Given the description of an element on the screen output the (x, y) to click on. 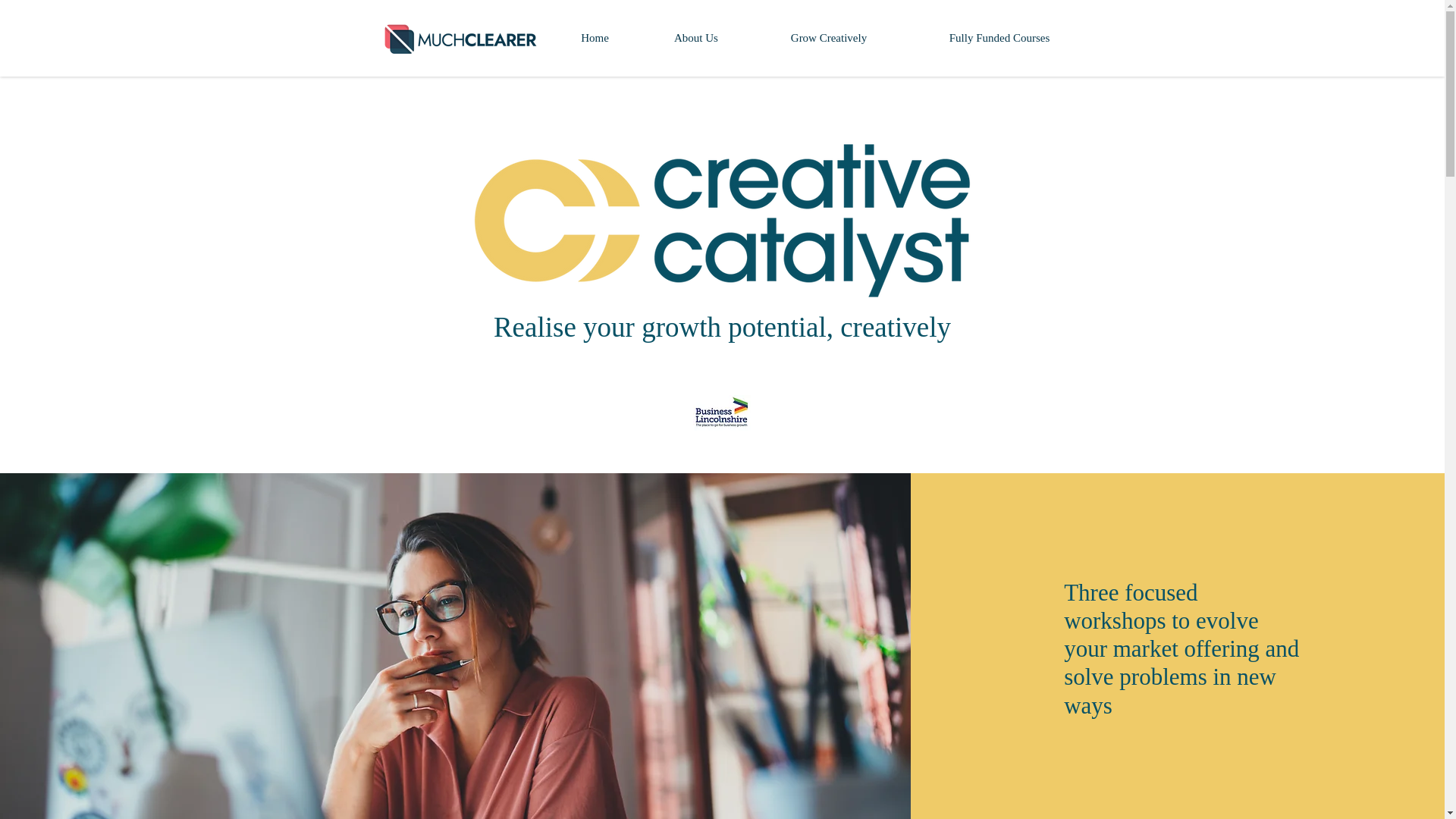
About Us (695, 37)
Home (594, 37)
